Given the description of an element on the screen output the (x, y) to click on. 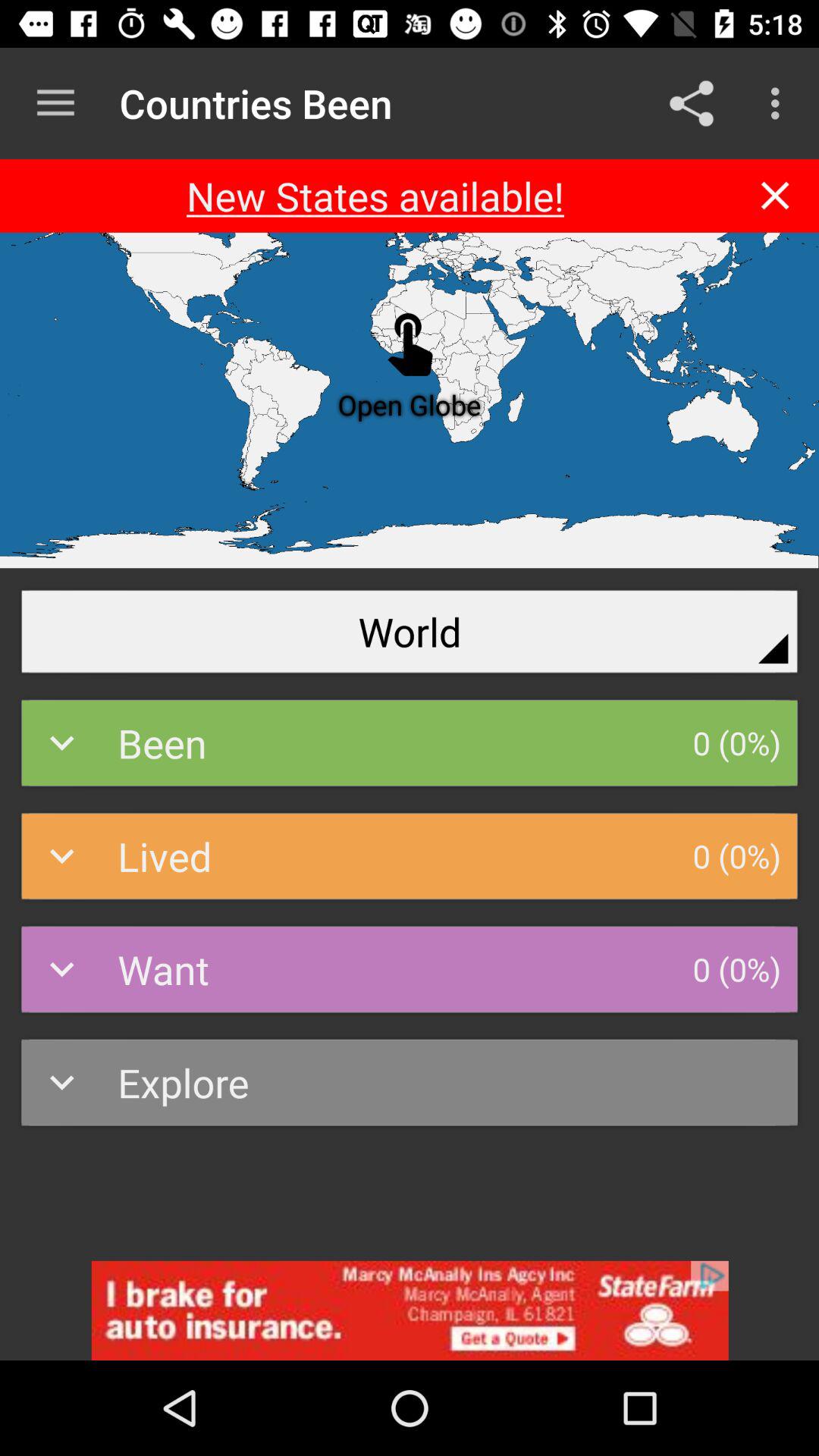
bring up the menu (55, 103)
